Given the description of an element on the screen output the (x, y) to click on. 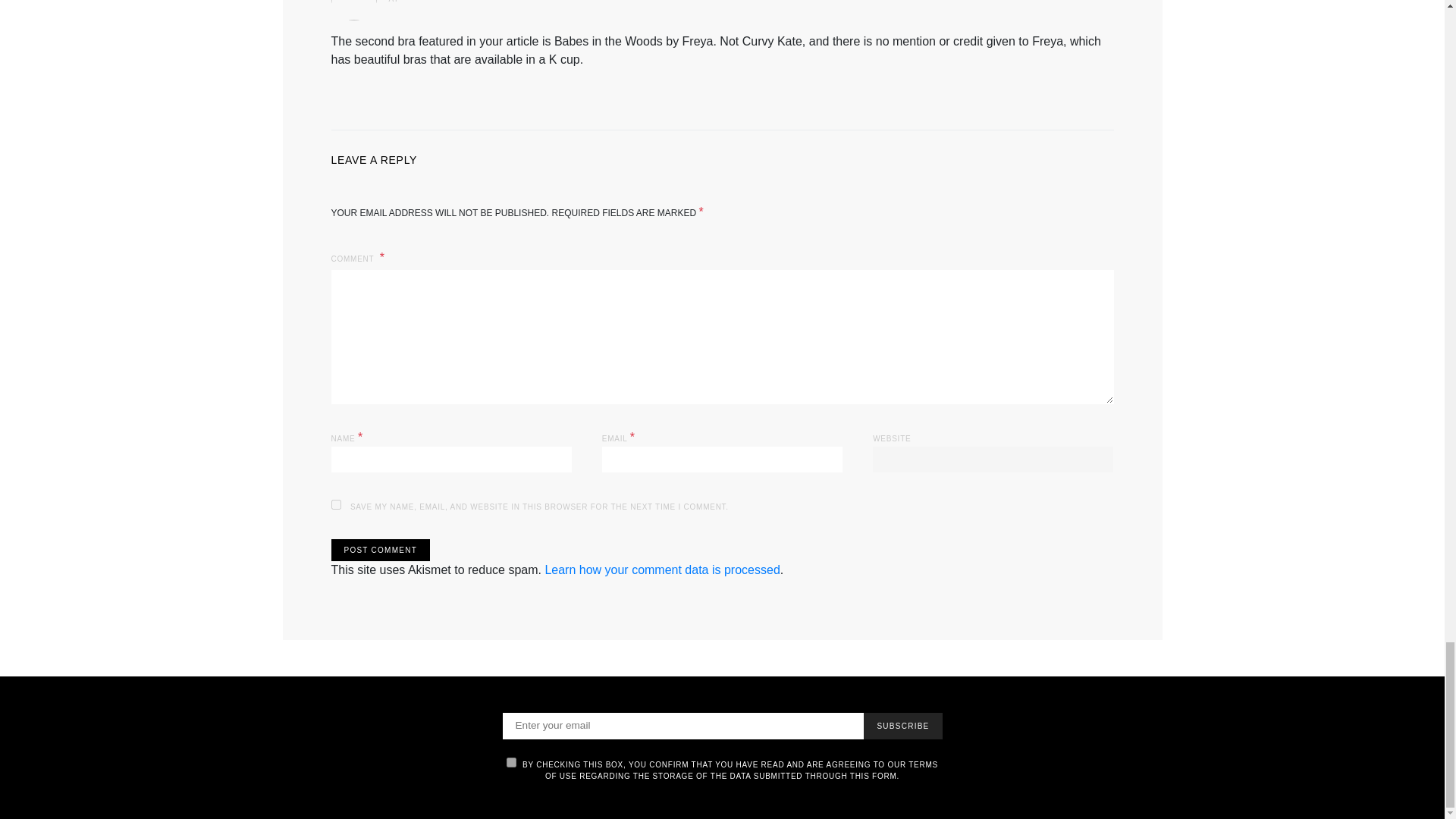
yes (335, 504)
on (511, 762)
Post Comment (379, 549)
